Given the description of an element on the screen output the (x, y) to click on. 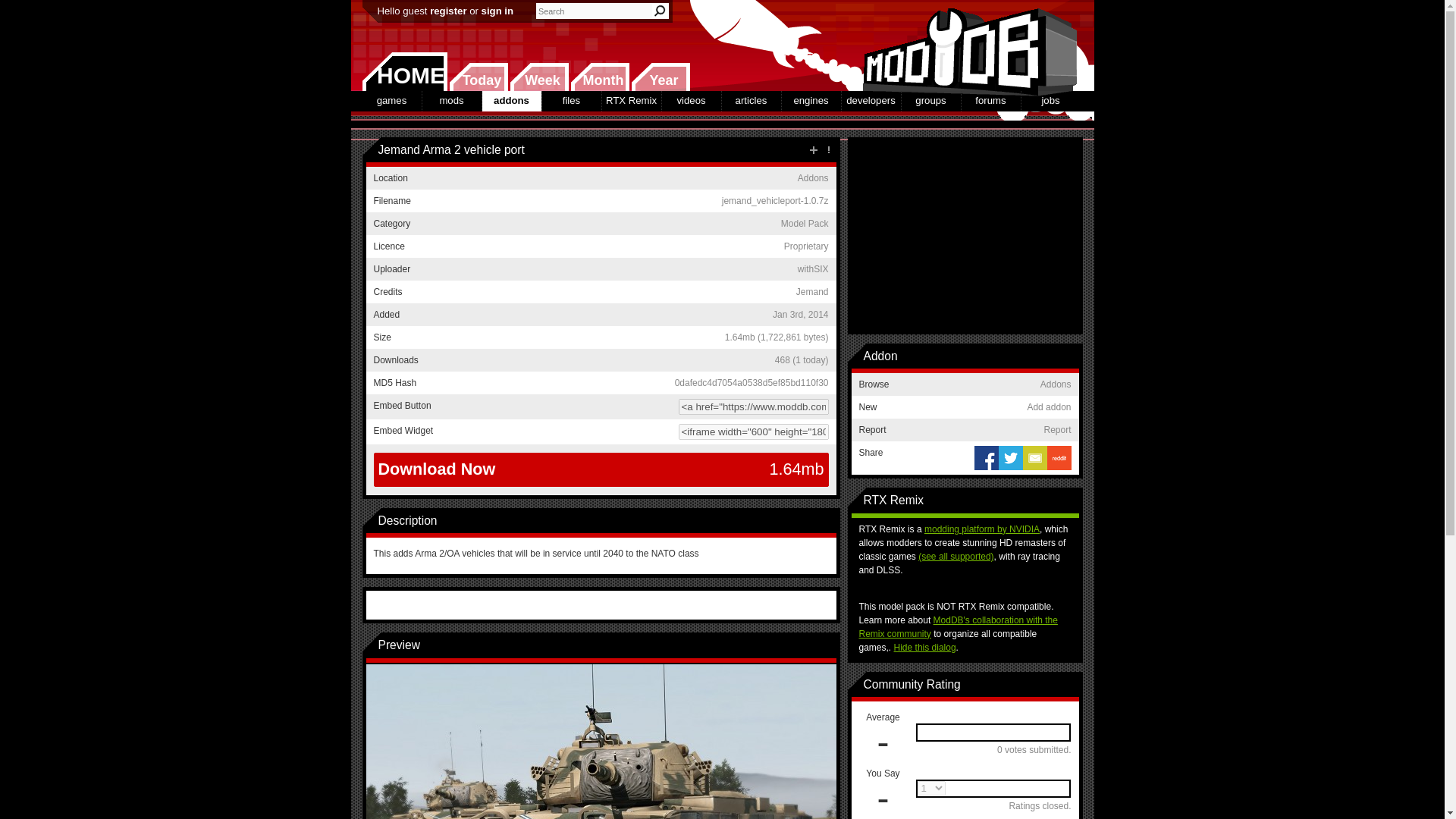
Month (599, 76)
Week (539, 76)
Year (660, 76)
Search ModDB (660, 10)
Report (828, 150)
files (570, 100)
videos (690, 100)
games (392, 100)
New this year (660, 76)
Jemand Arma 2 vehicle port (600, 783)
Add addon (813, 150)
New this week (539, 76)
Search (660, 10)
New this month (599, 76)
addons (511, 100)
